Given the description of an element on the screen output the (x, y) to click on. 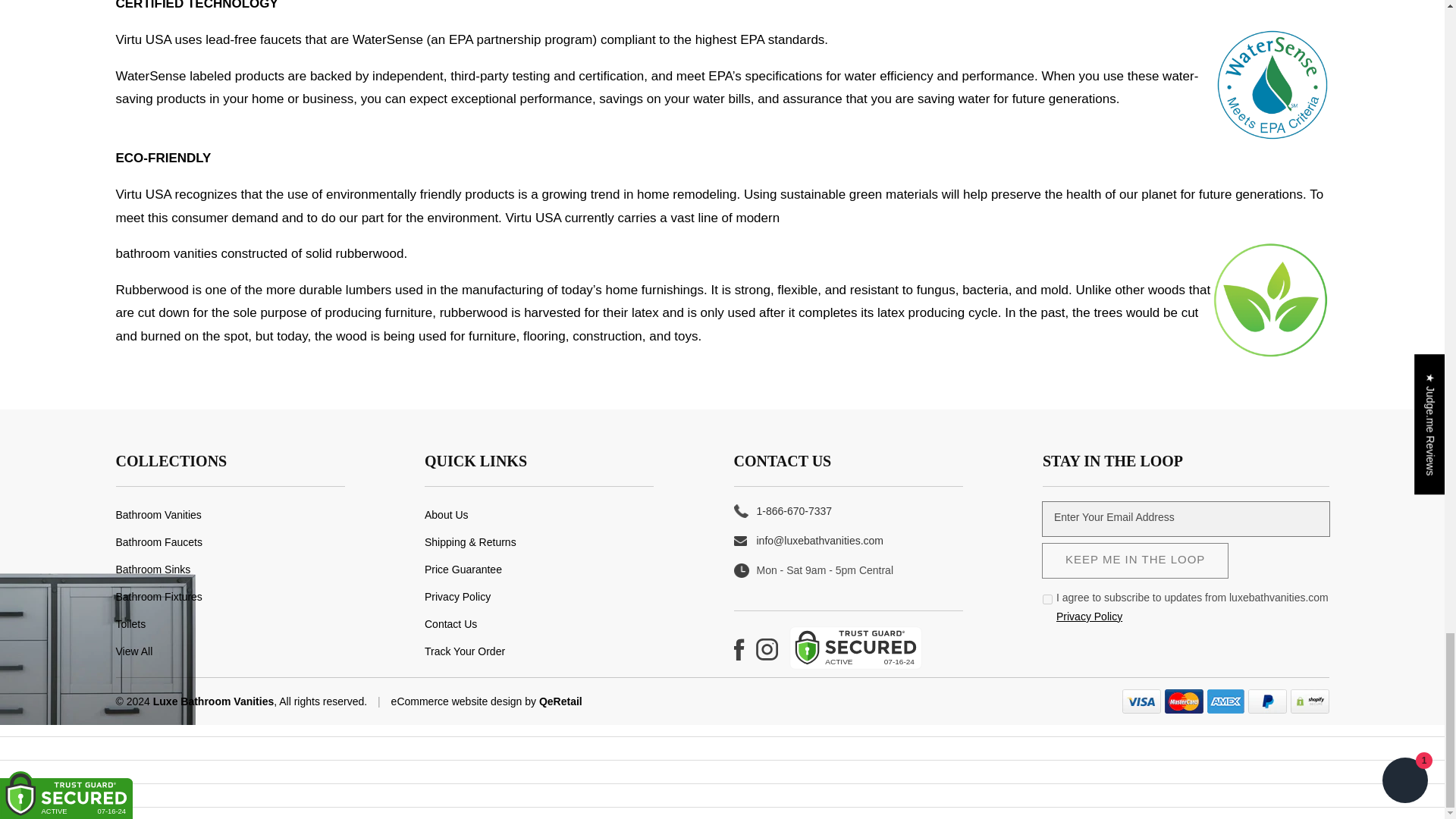
on (1047, 599)
